Given the description of an element on the screen output the (x, y) to click on. 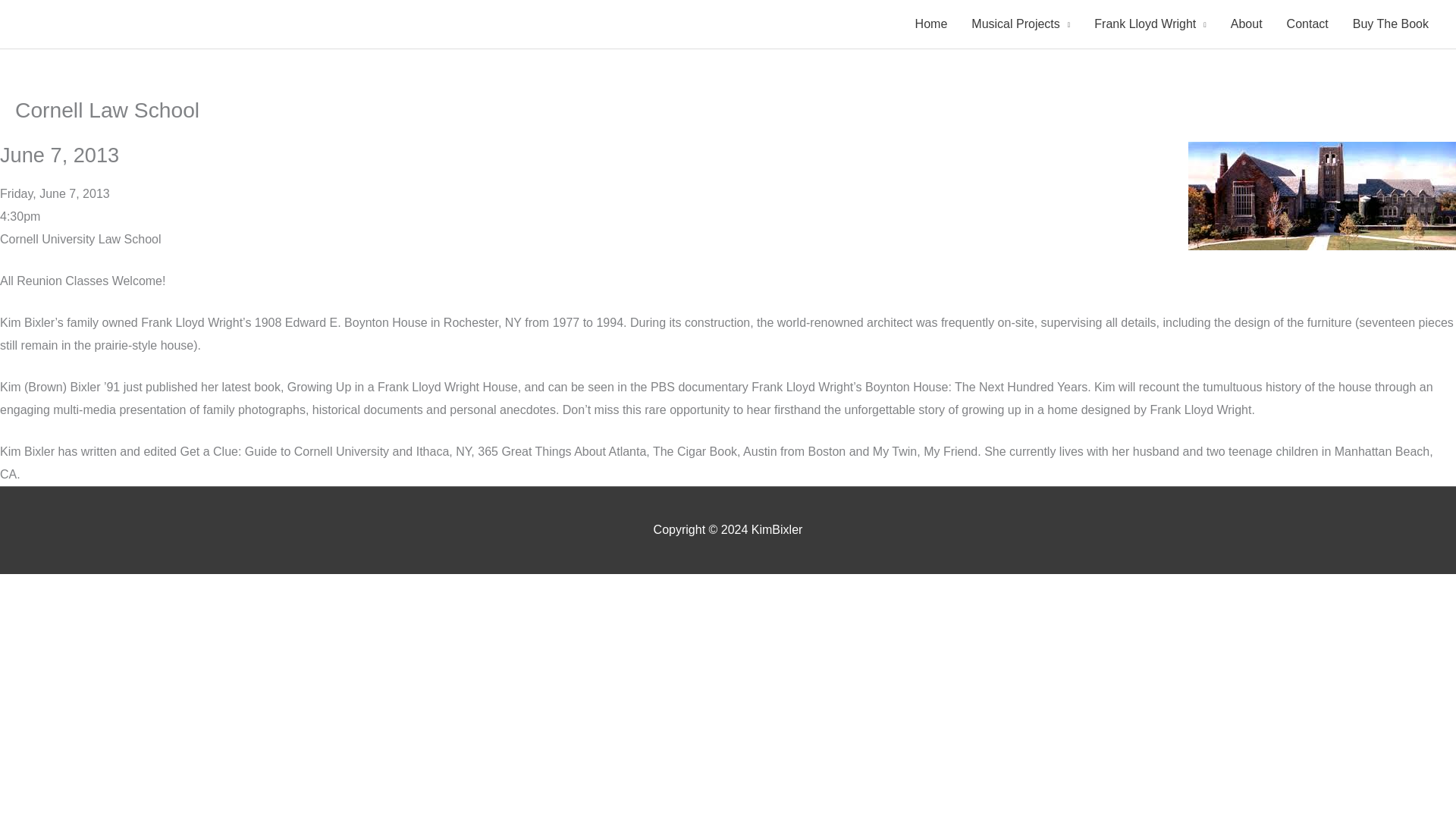
About (1246, 24)
Contact (1307, 24)
Buy The Book (1390, 24)
Musical Projects (1020, 24)
Home (930, 24)
Frank Lloyd Wright (1149, 24)
